Given the description of an element on the screen output the (x, y) to click on. 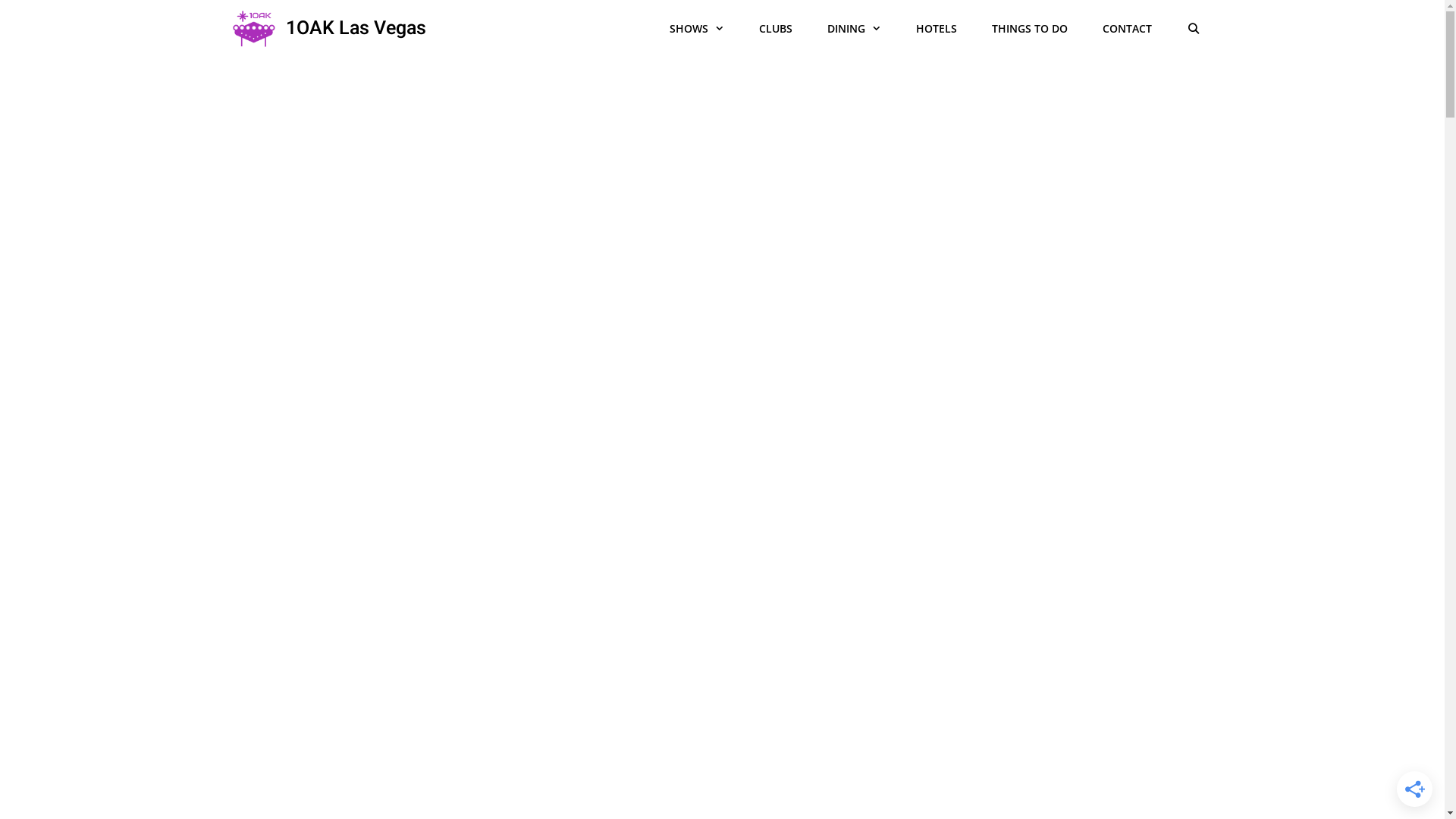
DINING Element type: text (854, 28)
HOTELS Element type: text (936, 28)
1OAK Las Vegas Element type: hover (253, 28)
SHOWS Element type: text (696, 28)
THINGS TO DO Element type: text (1029, 28)
1OAK Las Vegas Element type: hover (257, 28)
1OAK Las Vegas Element type: text (355, 28)
CONTACT Element type: text (1127, 28)
CLUBS Element type: text (775, 28)
